Given the description of an element on the screen output the (x, y) to click on. 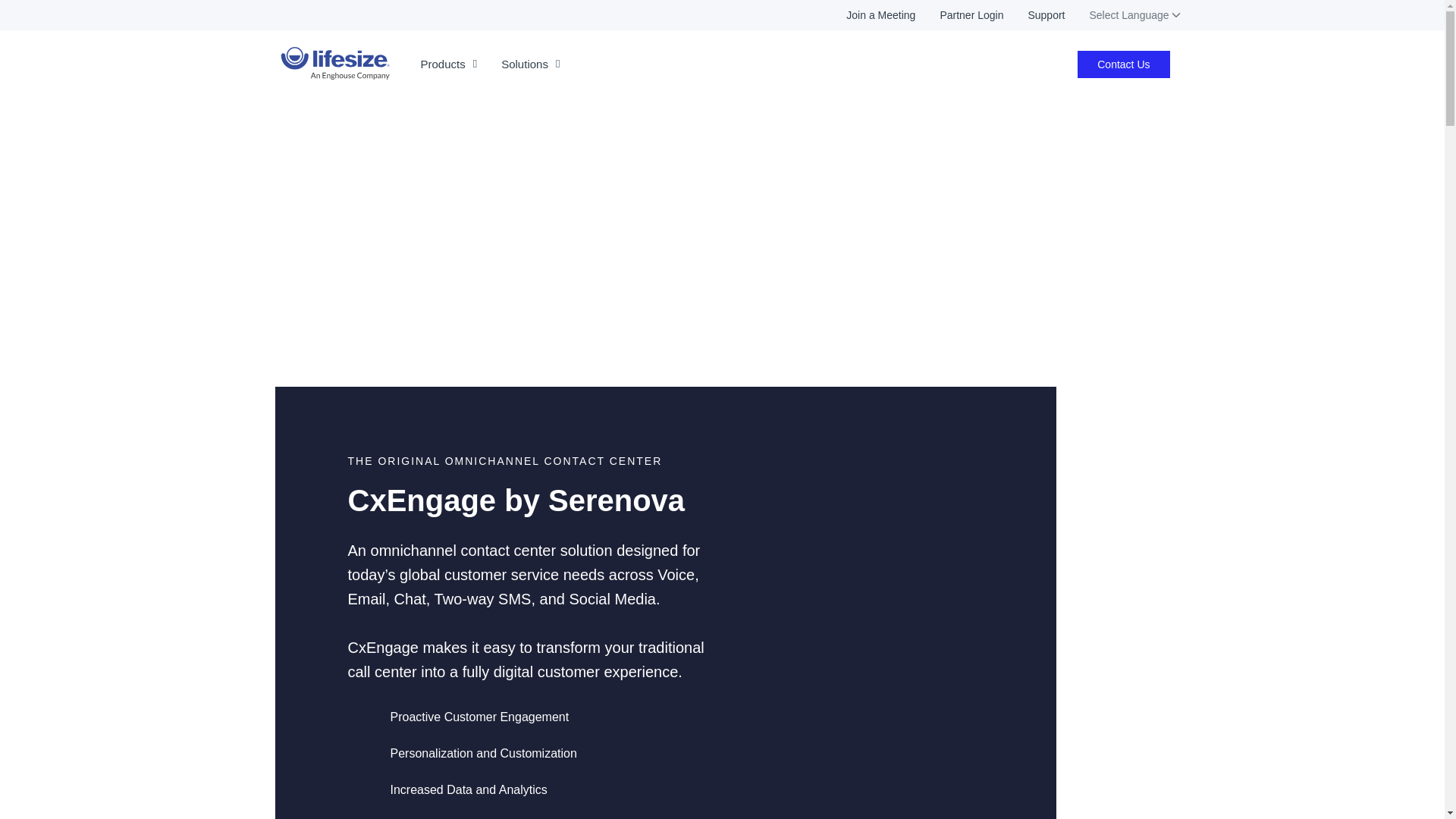
Support (1033, 14)
Solutions (530, 63)
Partner Login (959, 14)
Solutions (530, 63)
Products (448, 63)
Join a Meeting (868, 14)
Products (448, 63)
